Given the description of an element on the screen output the (x, y) to click on. 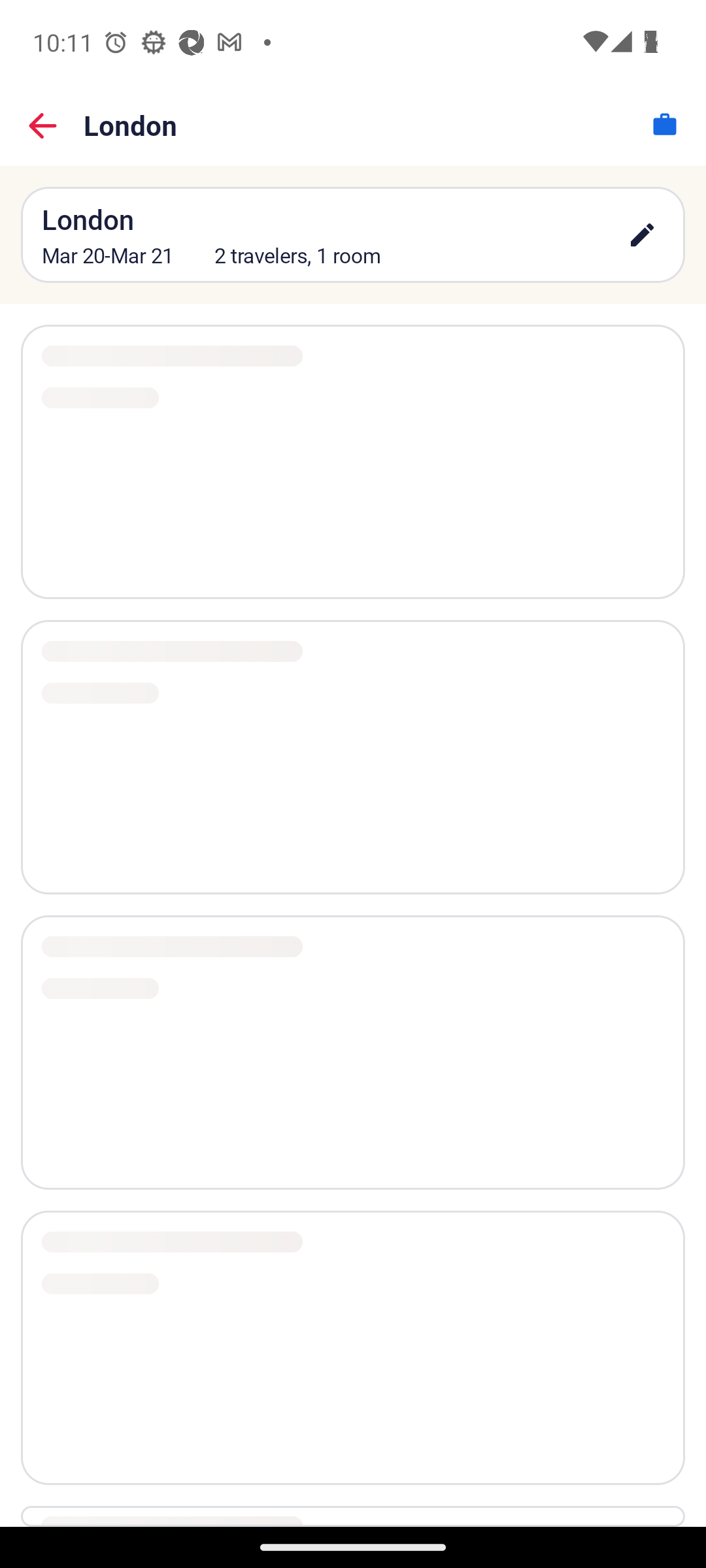
Trips. Button (664, 124)
London Mar 20-Mar 21 2 travelers, 1 room edit (352, 234)
